Given the description of an element on the screen output the (x, y) to click on. 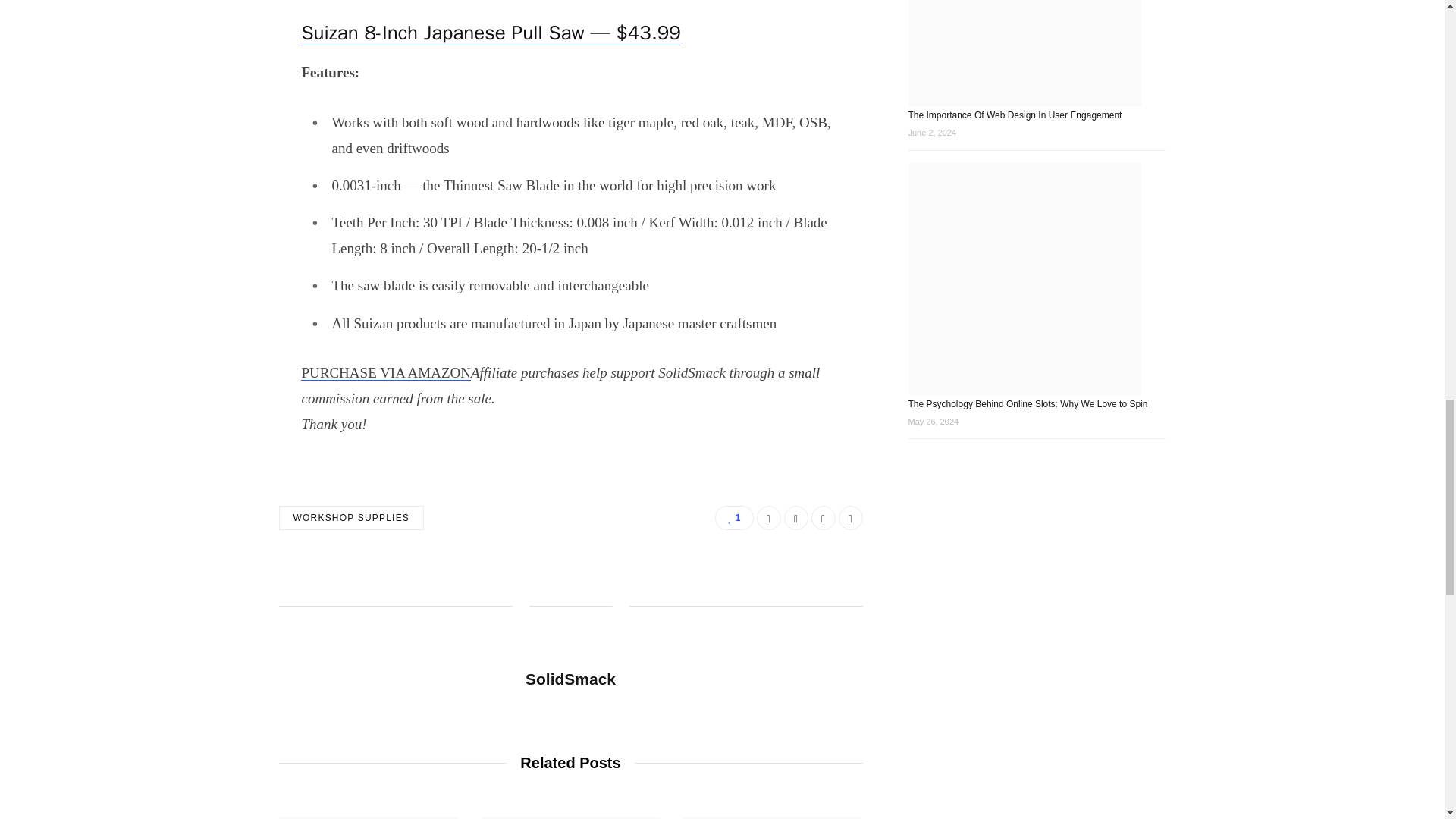
PURCHASE VIA AMAZON (385, 372)
Facebook (768, 517)
Twitter (796, 517)
1 (733, 517)
WORKSHOP SUPPLIES (352, 517)
SolidSmack (570, 679)
Pinterest (850, 517)
